Given the description of an element on the screen output the (x, y) to click on. 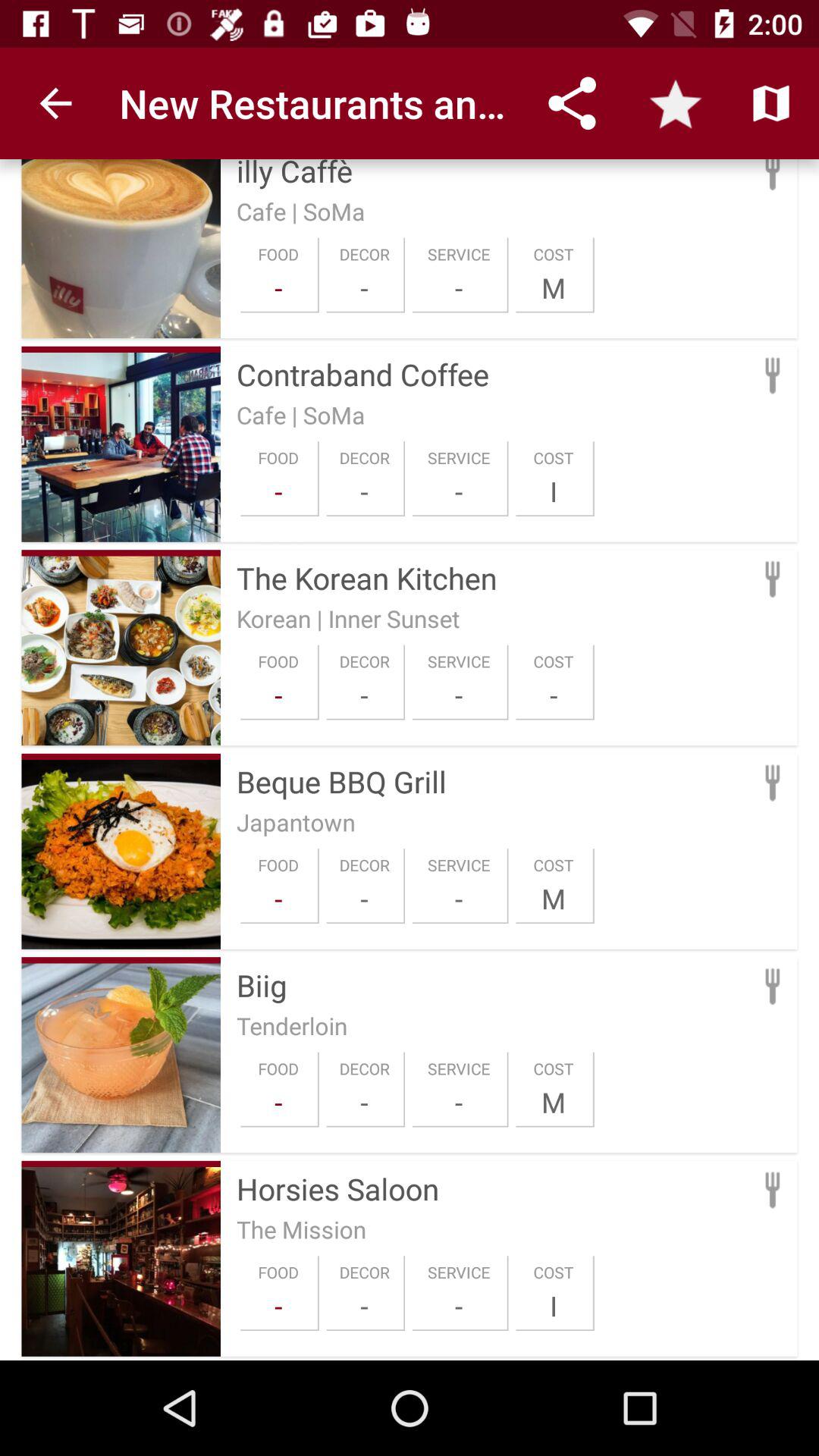
click app to the left of the new restaurants and item (55, 103)
